Given the description of an element on the screen output the (x, y) to click on. 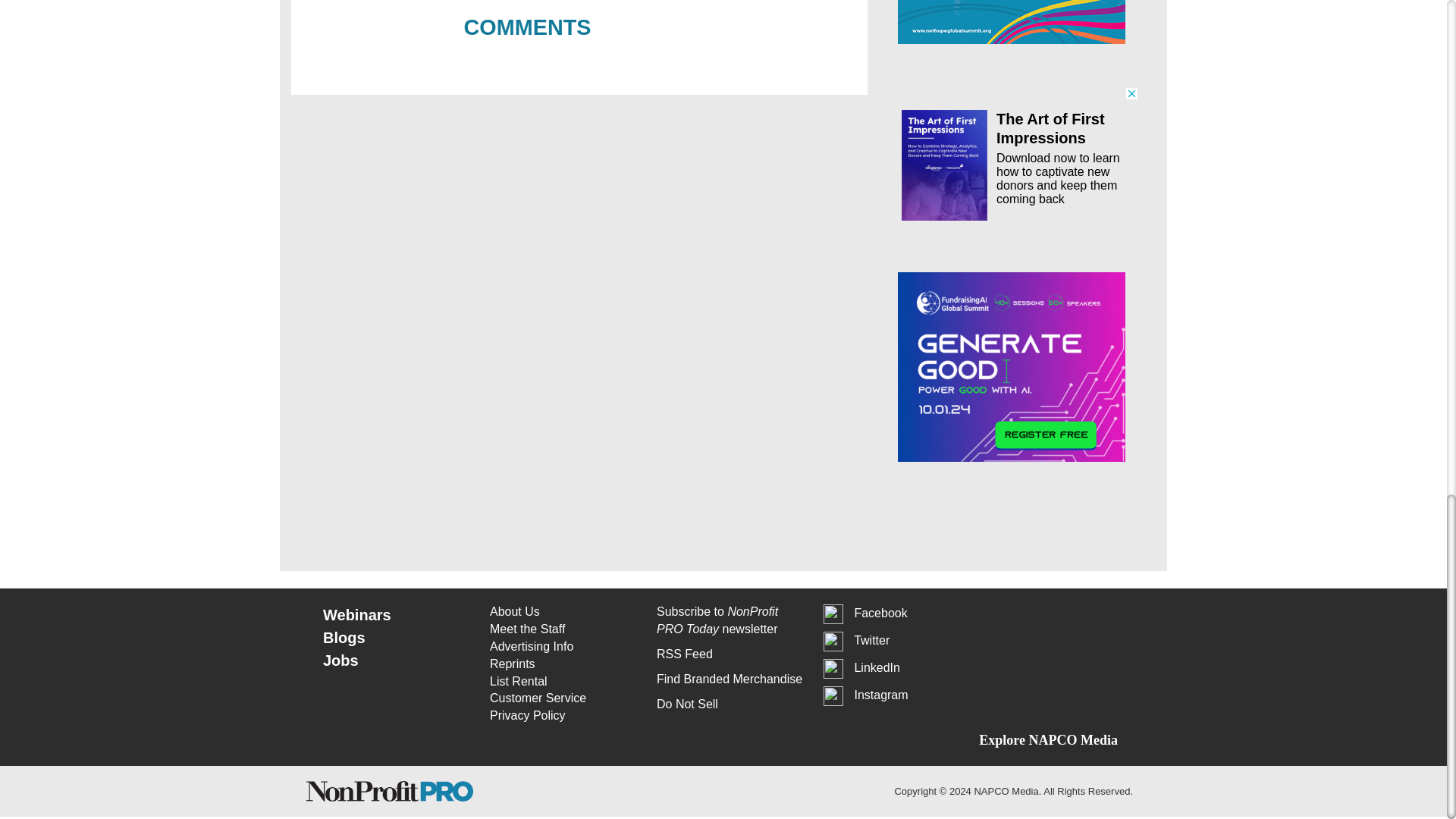
3rd party ad content (1011, 22)
3rd party ad content (1011, 366)
3rd party ad content (1011, 157)
